Given the description of an element on the screen output the (x, y) to click on. 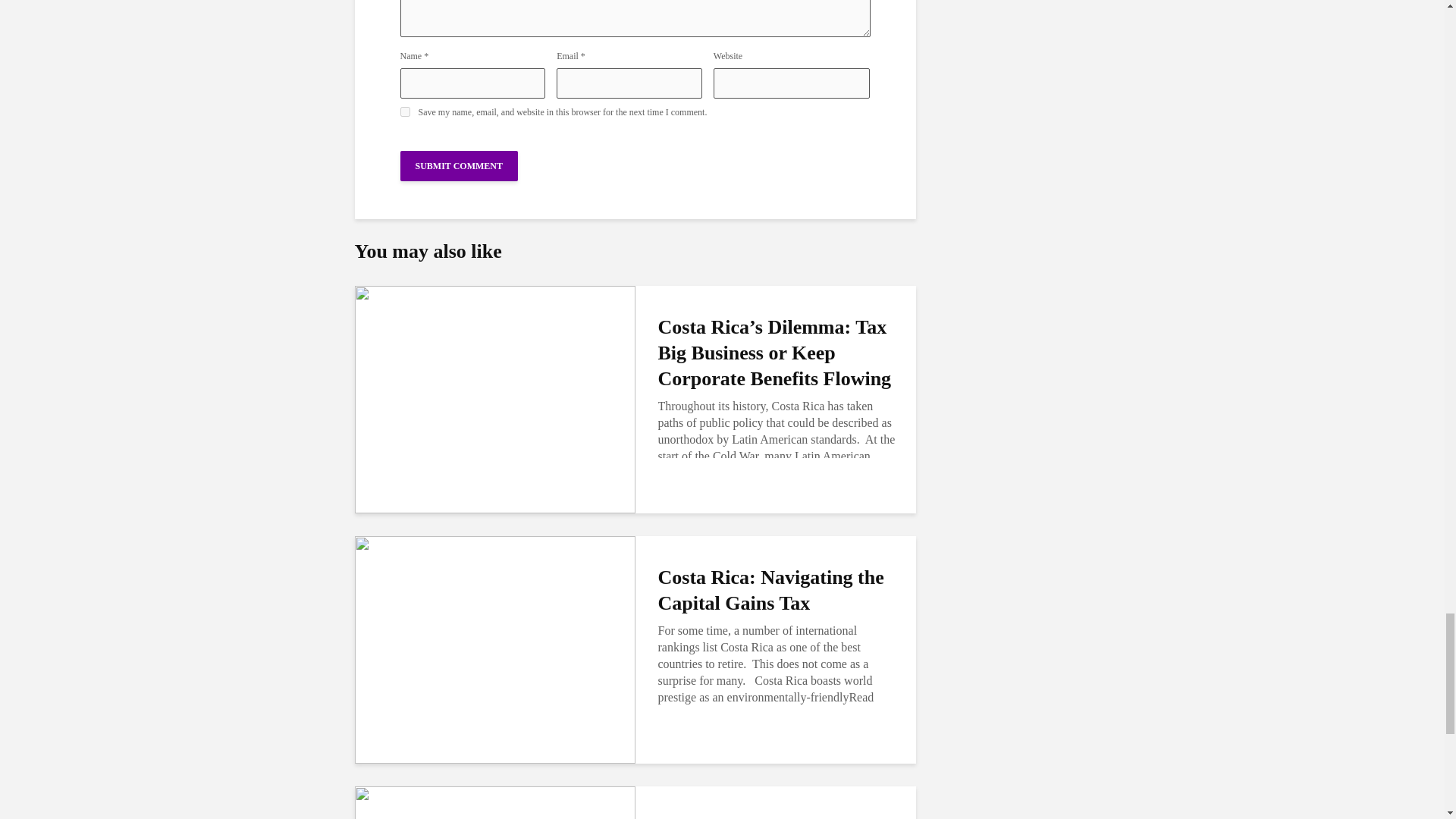
Costa Rica: Navigating the Capital Gains Tax (494, 647)
Submit Comment (459, 165)
yes (405, 112)
